Given the description of an element on the screen output the (x, y) to click on. 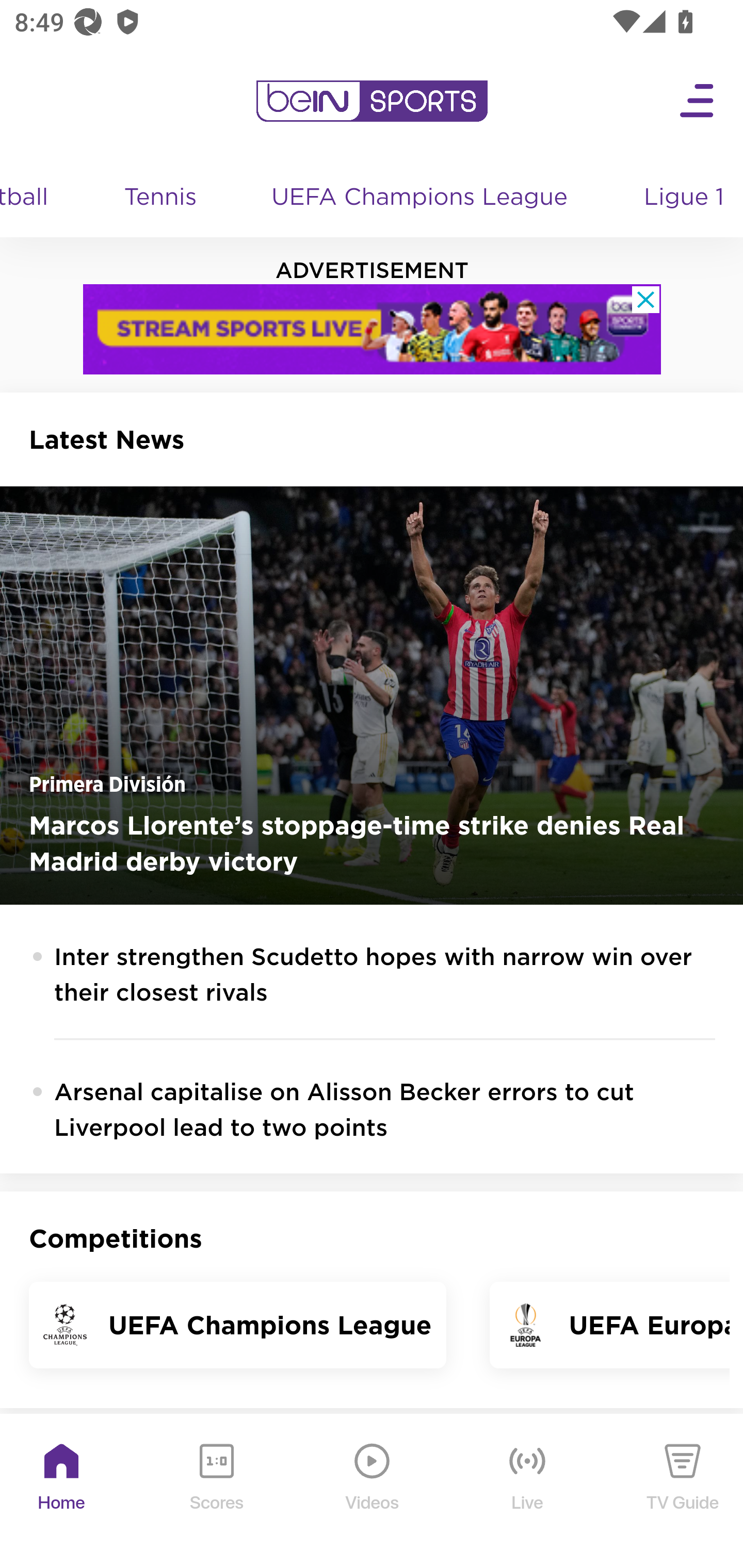
en-my?platform=mobile_android bein logo (371, 101)
Open Menu Icon (697, 101)
Football (33, 198)
Tennis (161, 198)
UEFA Champions League (421, 198)
Ligue 1 (685, 198)
Home Home Icon Home (61, 1491)
Scores Scores Icon Scores (216, 1491)
Videos Videos Icon Videos (372, 1491)
TV Guide TV Guide Icon TV Guide (682, 1491)
